Given the description of an element on the screen output the (x, y) to click on. 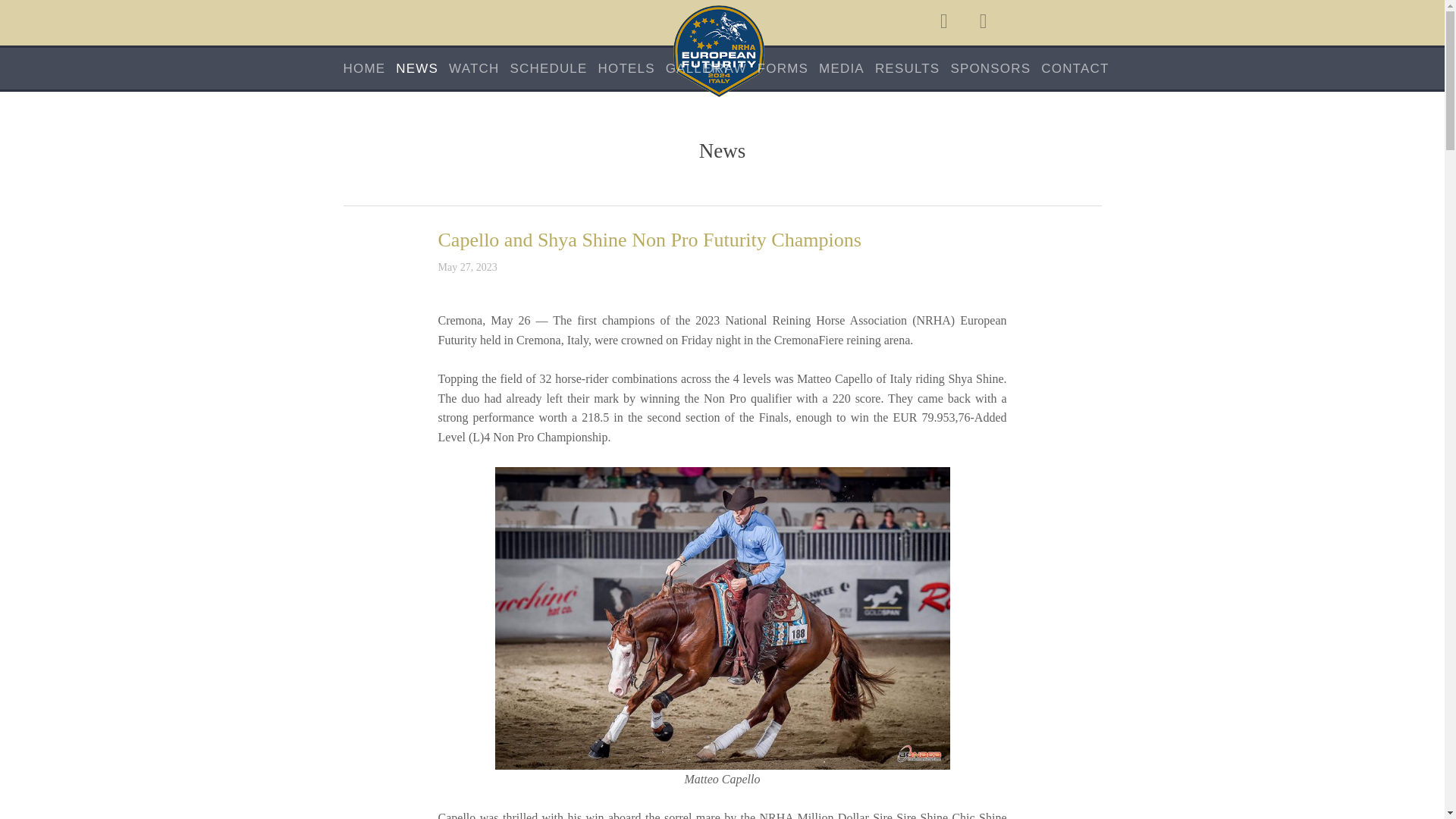
SPONSORS (990, 68)
Capello and Shya Shine Non Pro Futurity Champions (649, 239)
DRAW (725, 68)
SCHEDULE (547, 68)
HOTELS (626, 68)
HOME (363, 68)
RESULTS (907, 68)
CONTACT (1074, 68)
GALLERY (697, 68)
MEDIA (841, 68)
